Given the description of an element on the screen output the (x, y) to click on. 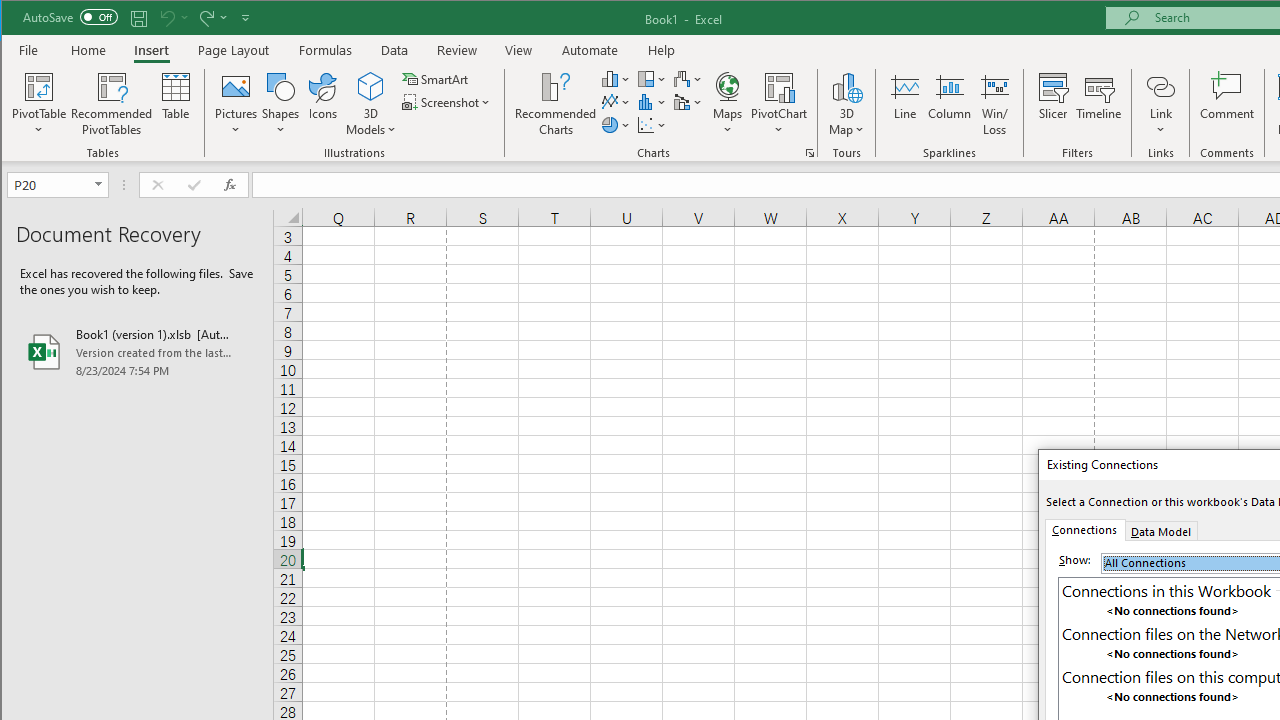
3D Map (846, 104)
File Tab (29, 49)
Insert (151, 50)
Book1 (version 1).xlsb  [AutoRecovered] (137, 352)
3D Models (371, 86)
Link (1160, 86)
Quick Access Toolbar (137, 17)
Insert Column or Bar Chart (616, 78)
PivotChart (779, 86)
PivotChart (779, 104)
Home (88, 50)
Automate (589, 50)
